Given the description of an element on the screen output the (x, y) to click on. 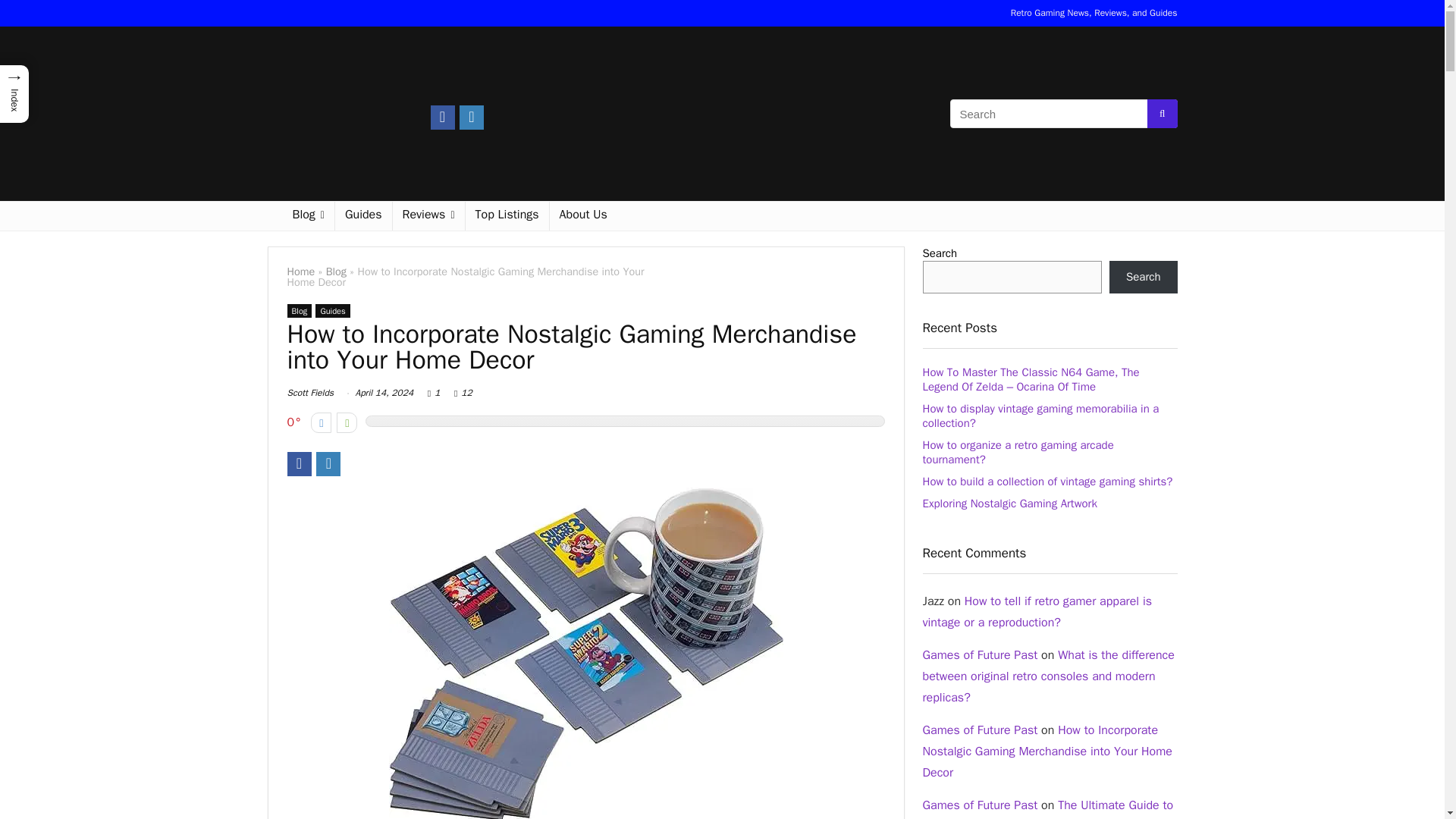
View all posts in Guides (332, 310)
Instagramm (327, 463)
Guides (362, 215)
Reviews (428, 215)
Facebook (298, 463)
Blog (336, 271)
Scott Fields (309, 392)
Vote up (346, 422)
About Us (583, 215)
Blog (298, 310)
View all posts in Blog (298, 310)
Guides (332, 310)
Facebook (442, 117)
Home (300, 271)
